Given the description of an element on the screen output the (x, y) to click on. 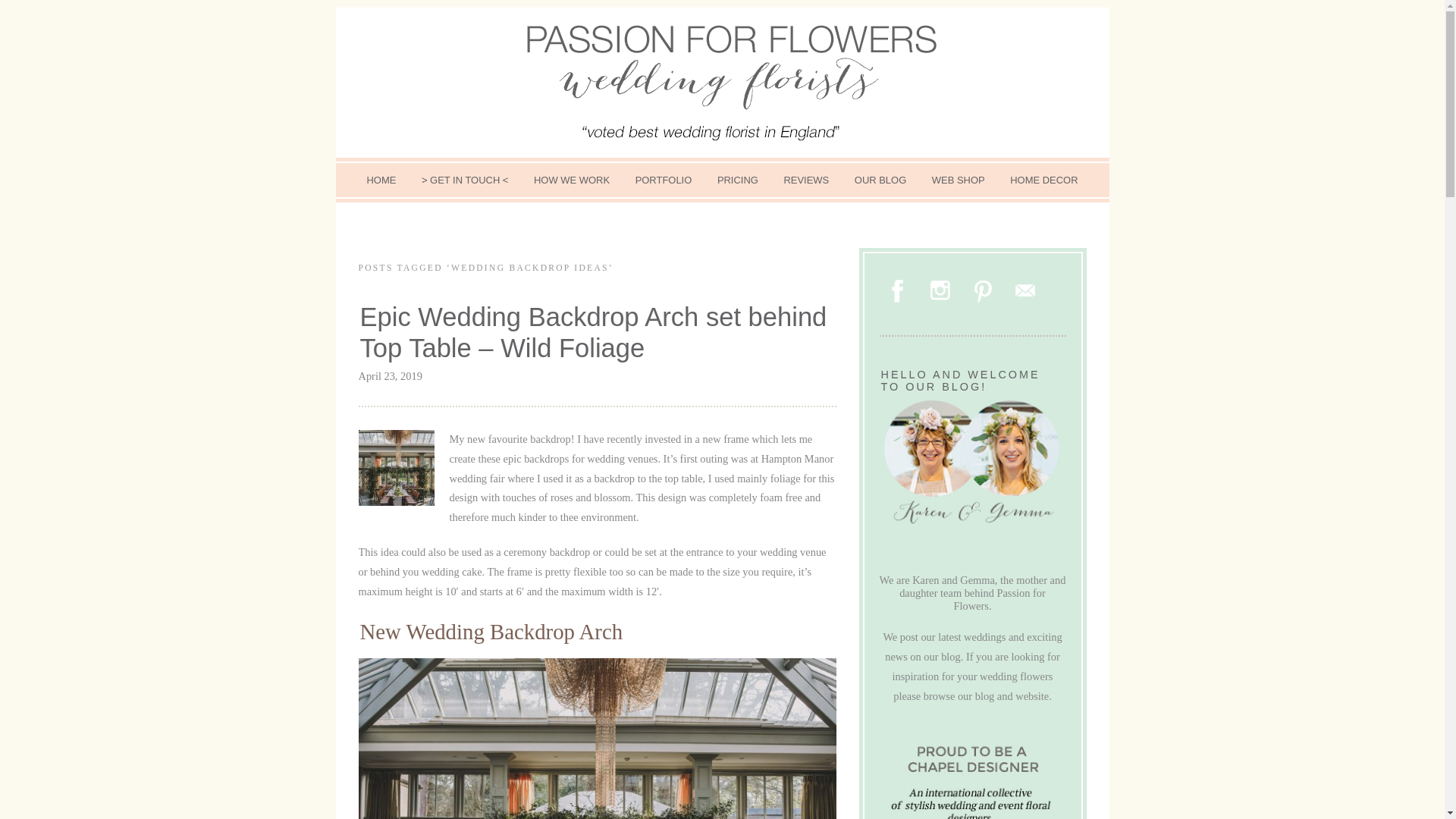
HOW WE WORK (571, 179)
Passion for Flowers (722, 82)
OUR BLOG (880, 179)
PRICING (738, 179)
HOME DECOR (1043, 179)
HOME (381, 179)
PORTFOLIO (663, 179)
WEB SHOP (957, 179)
REVIEWS (805, 179)
